Given the description of an element on the screen output the (x, y) to click on. 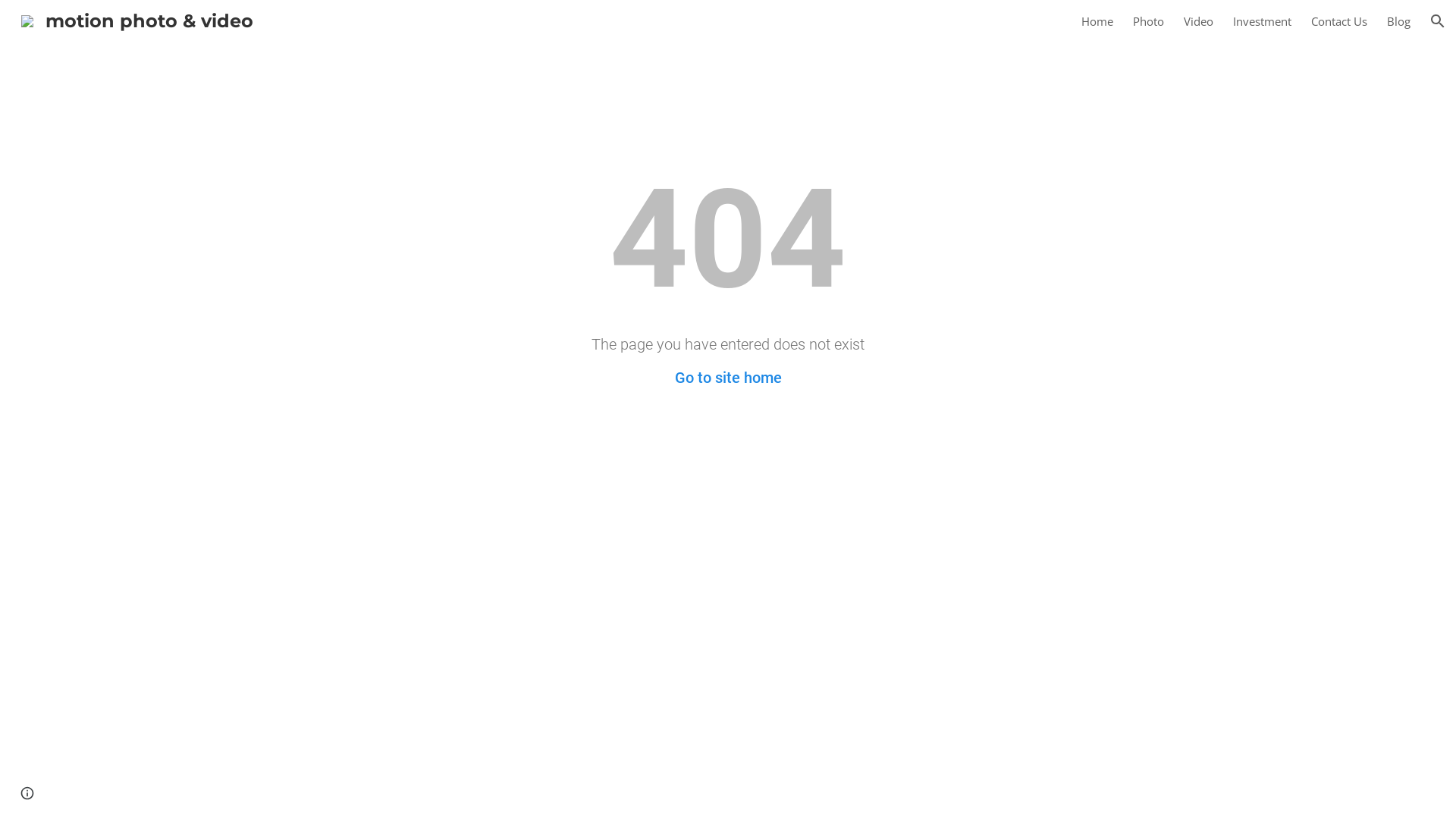
motion photo & video Element type: text (137, 19)
Contact Us Element type: text (1339, 20)
Blog Element type: text (1398, 20)
Go to site home Element type: text (727, 377)
Video Element type: text (1198, 20)
Photo Element type: text (1148, 20)
Home Element type: text (1097, 20)
Investment Element type: text (1262, 20)
